Given the description of an element on the screen output the (x, y) to click on. 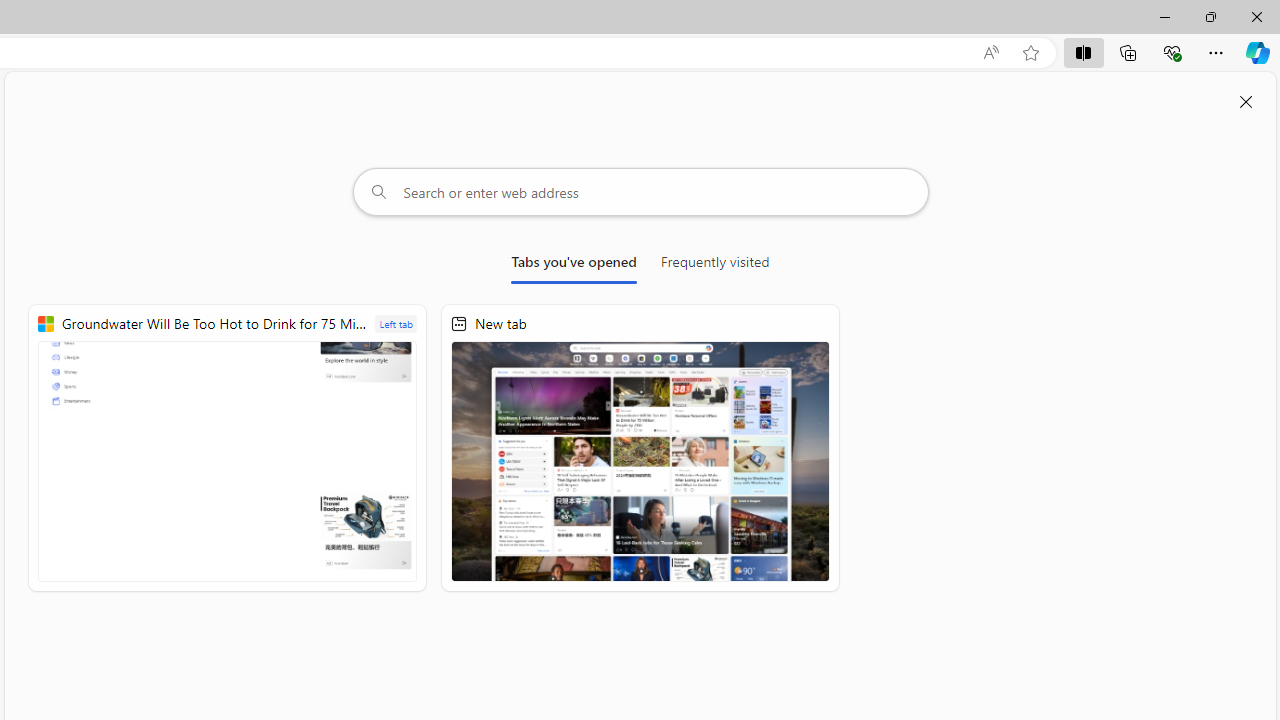
Frequently visited (715, 265)
Tabs you've opened (573, 265)
Search or enter web address (640, 191)
